Given the description of an element on the screen output the (x, y) to click on. 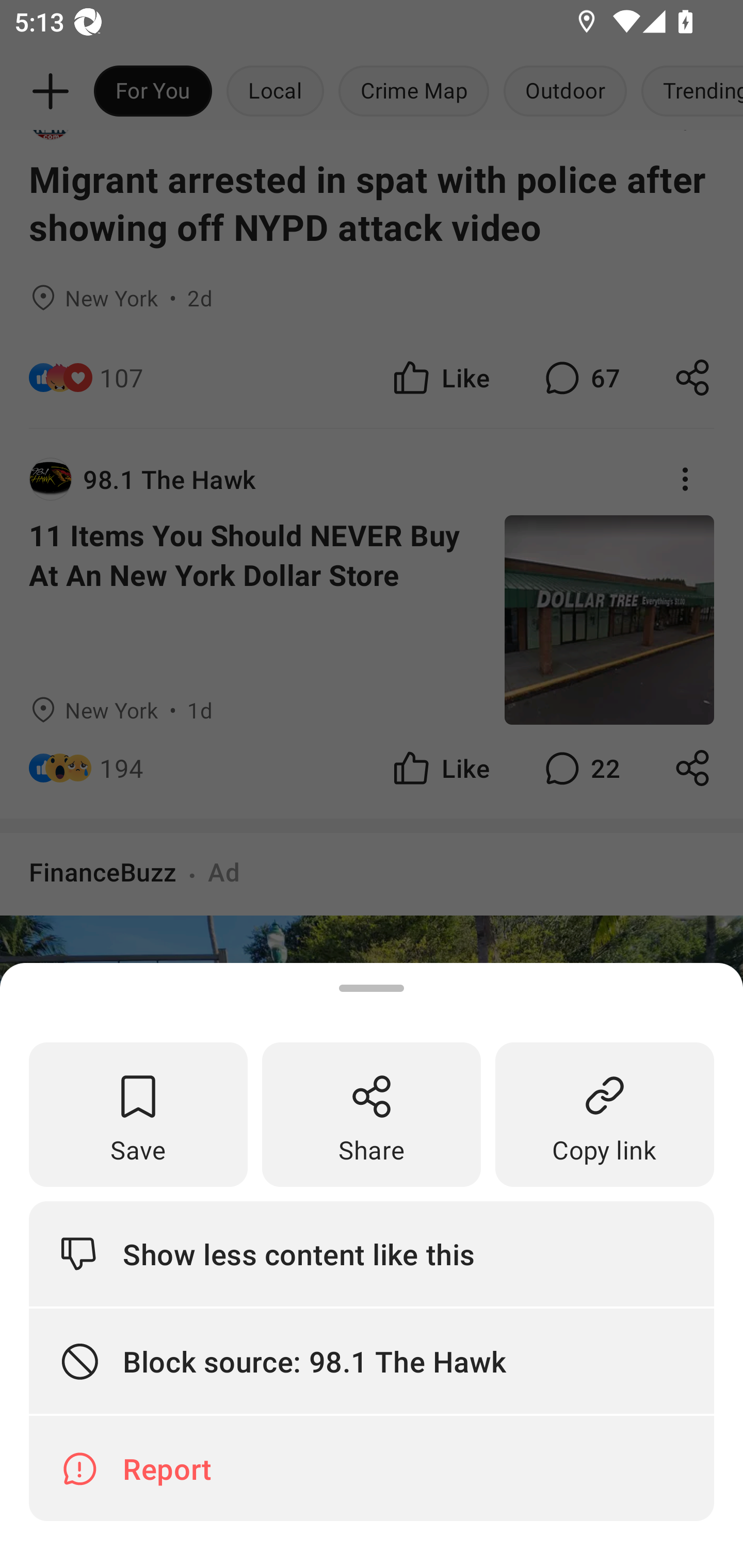
Save (137, 1114)
Share (371, 1114)
Copy link (604, 1114)
Show less content like this (371, 1253)
Block source: 98.1 The Hawk (371, 1361)
Report (371, 1467)
